Given the description of an element on the screen output the (x, y) to click on. 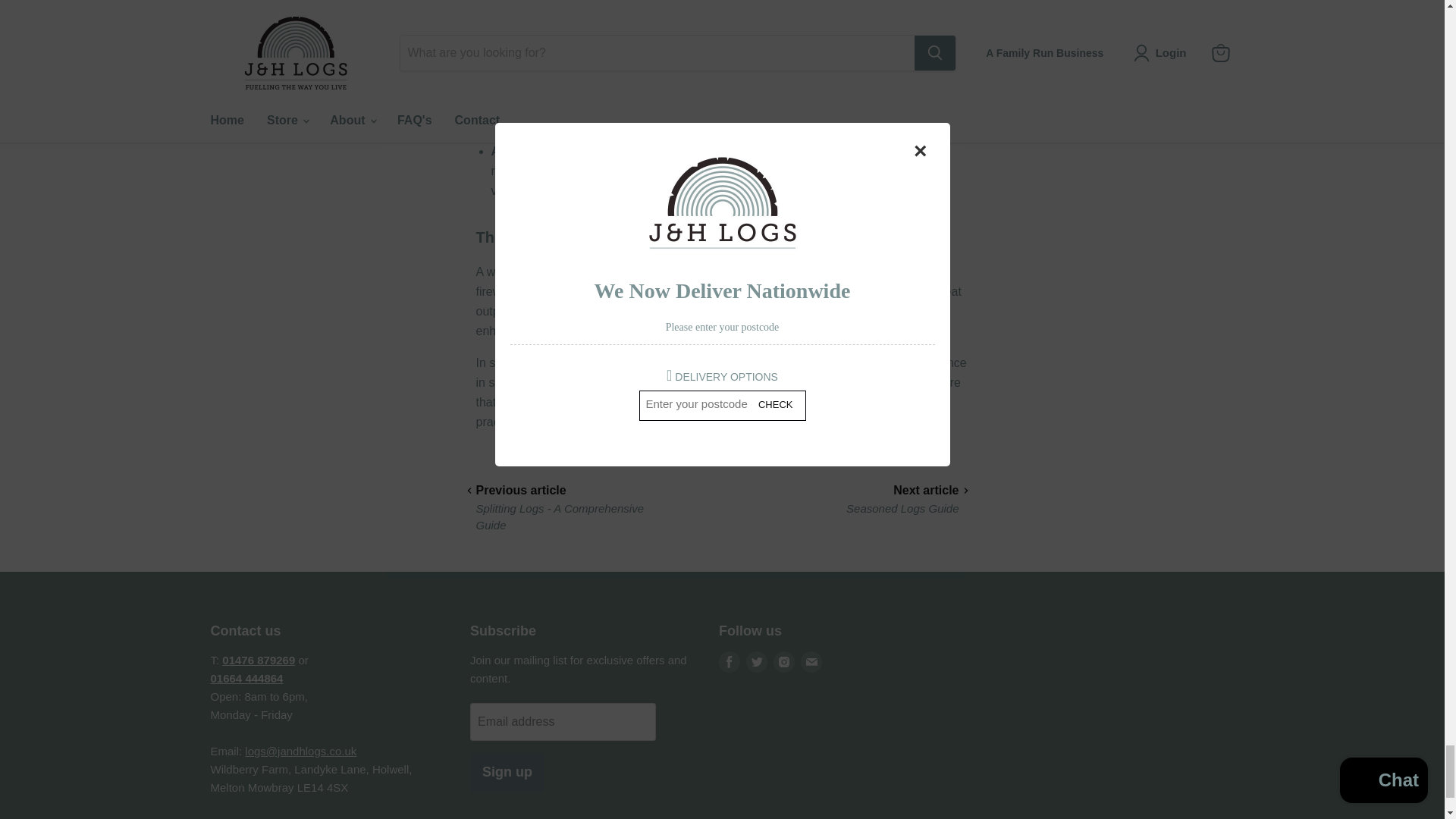
email J and H Logs (300, 750)
Email (811, 661)
Facebook (729, 661)
tel:01664444864 (247, 677)
tel:01476879269 (258, 659)
Instagram (783, 661)
Twitter (756, 661)
